Given the description of an element on the screen output the (x, y) to click on. 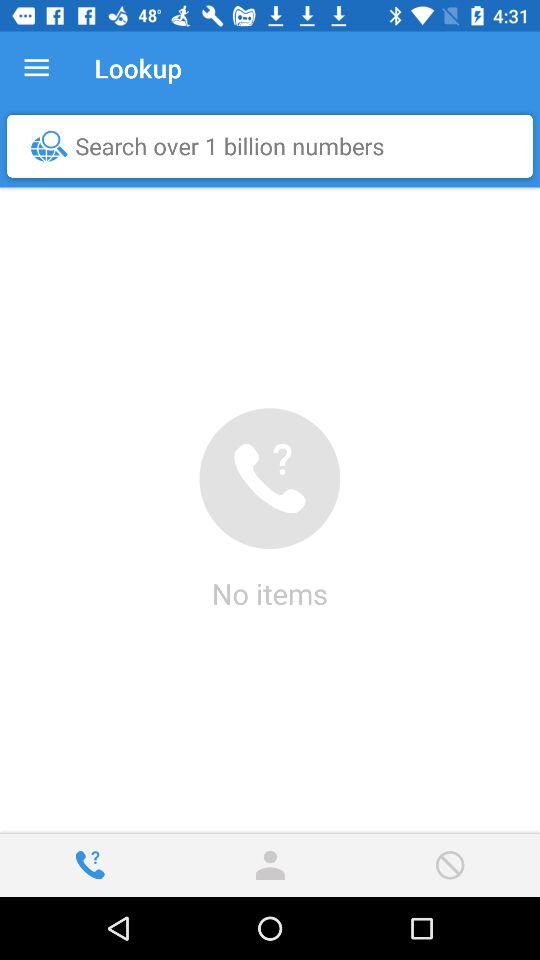
turn on the icon next to the lookup (36, 68)
